Given the description of an element on the screen output the (x, y) to click on. 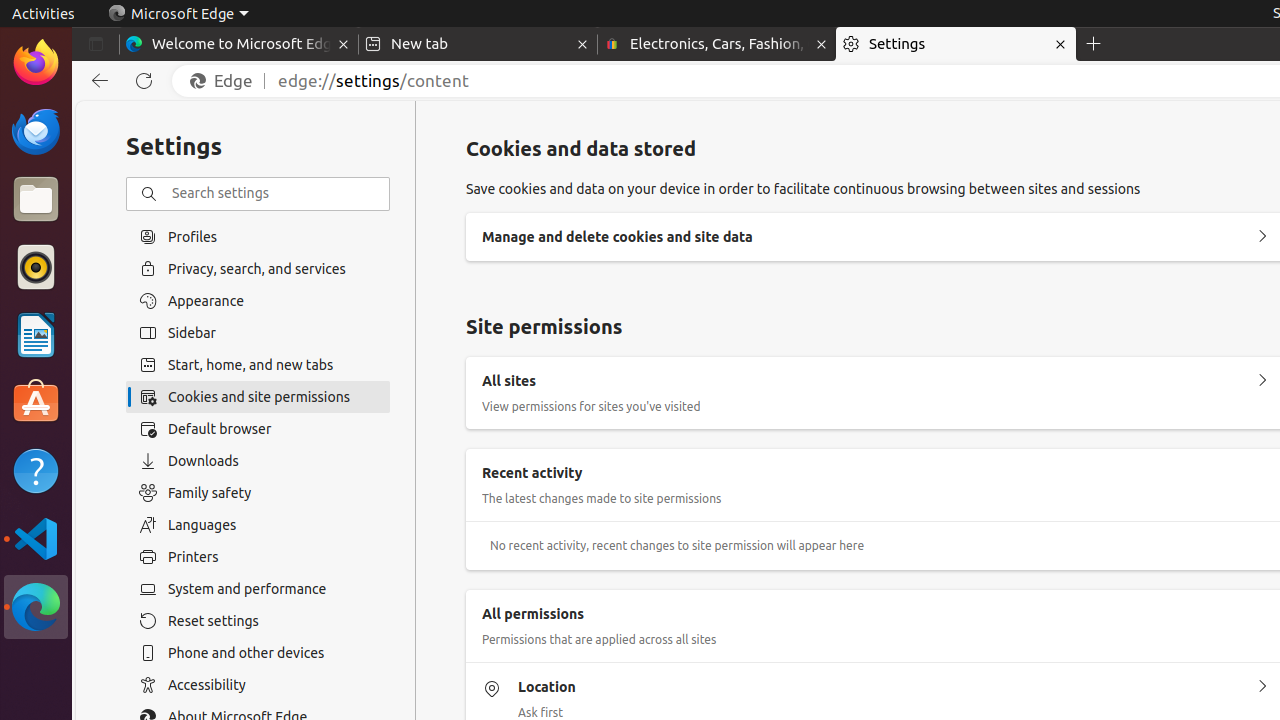
All sites Element type: push-button (1262, 381)
Microsoft Edge Element type: menu (178, 13)
